Given the description of an element on the screen output the (x, y) to click on. 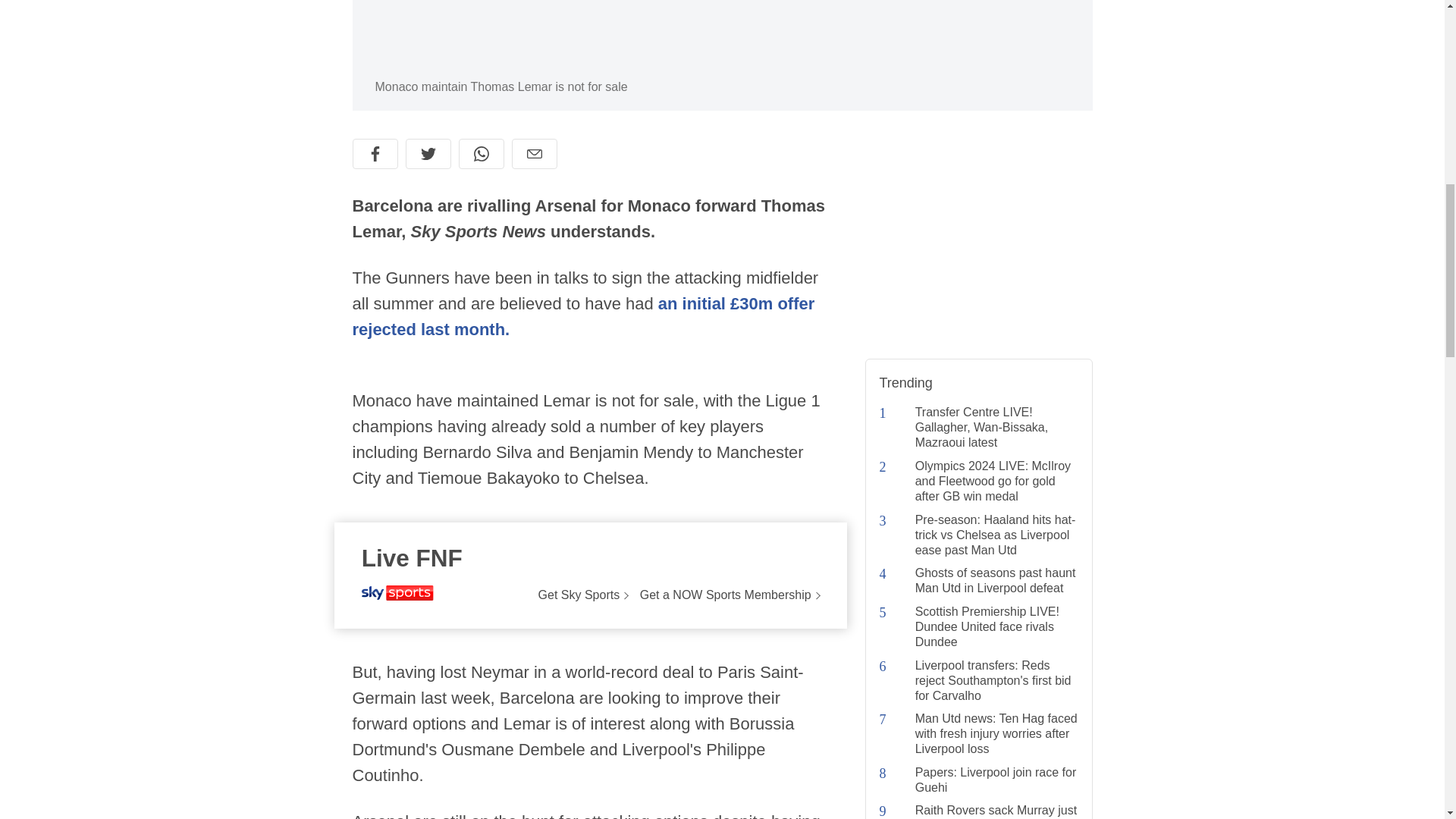
Share on WhatsApp (480, 153)
Share on Twitter (426, 153)
Share on Facebook (374, 153)
Share by email (533, 153)
